Given the description of an element on the screen output the (x, y) to click on. 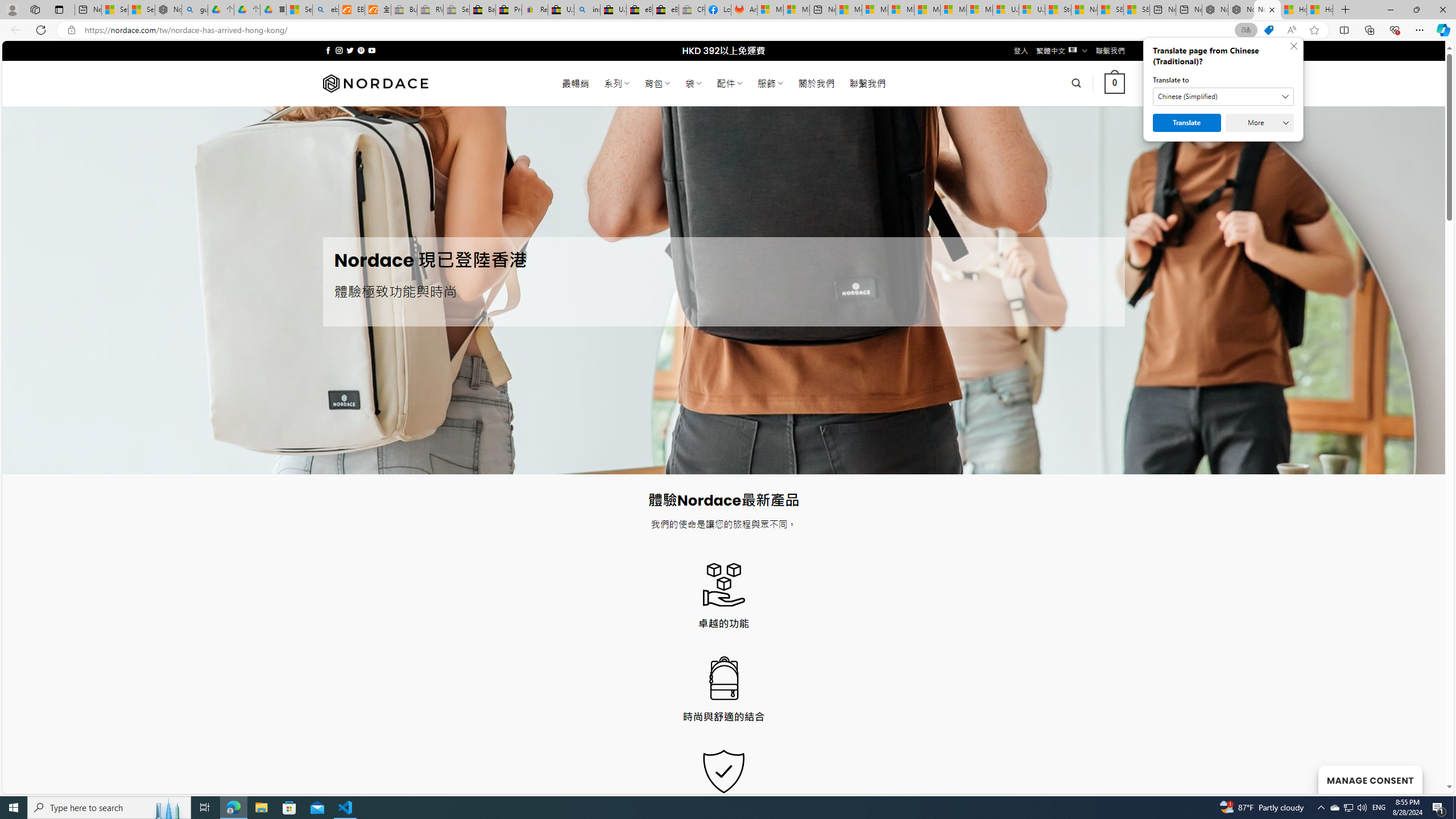
Microsoft account | Privacy (874, 9)
This site has coupons! Shopping in Microsoft Edge (1268, 29)
Translate to (1223, 96)
 0  (1115, 83)
More (1259, 122)
